Given the description of an element on the screen output the (x, y) to click on. 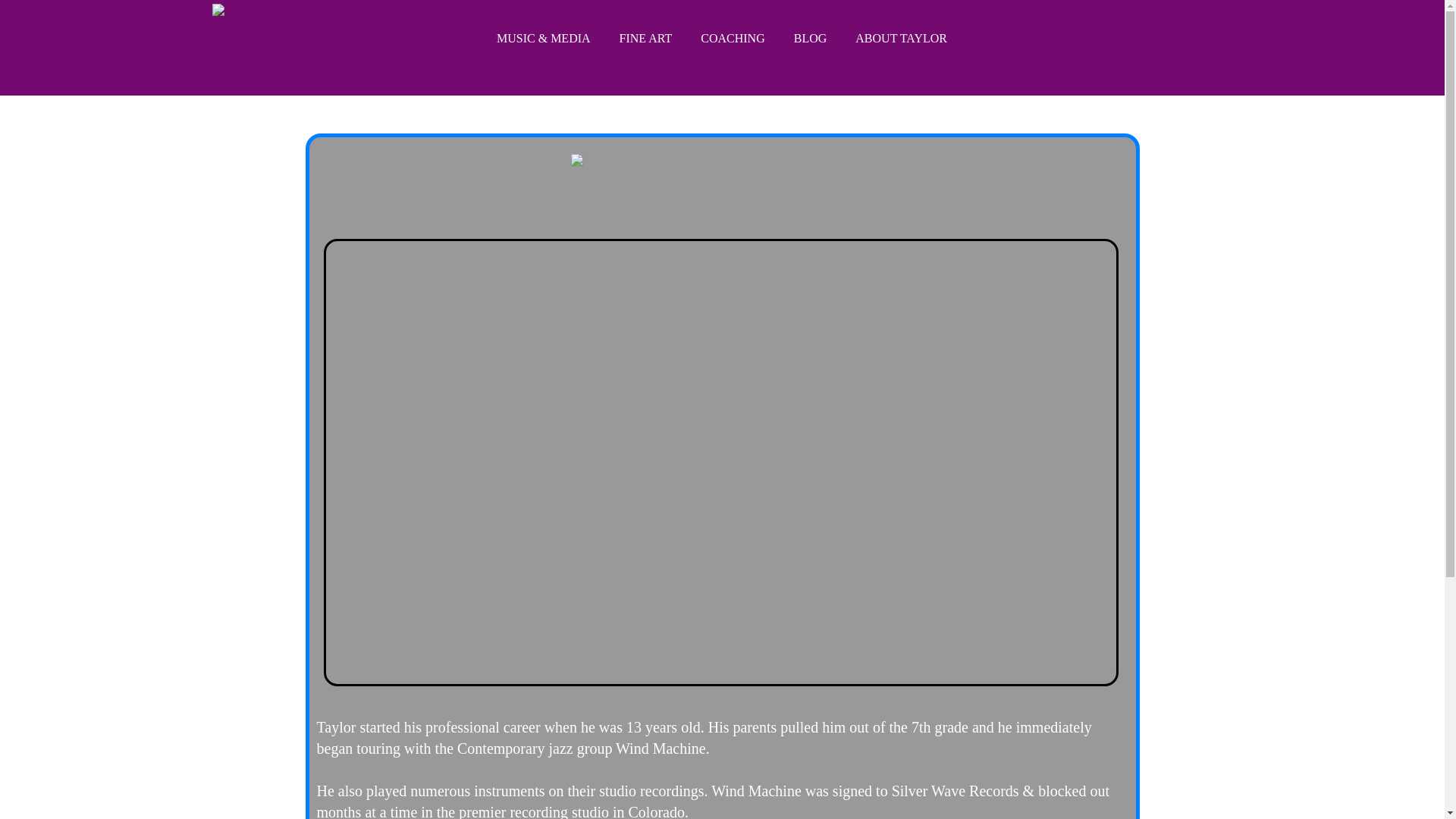
ABOUT TAYLOR (901, 38)
COACHING (732, 38)
FINE ART (646, 38)
